Given the description of an element on the screen output the (x, y) to click on. 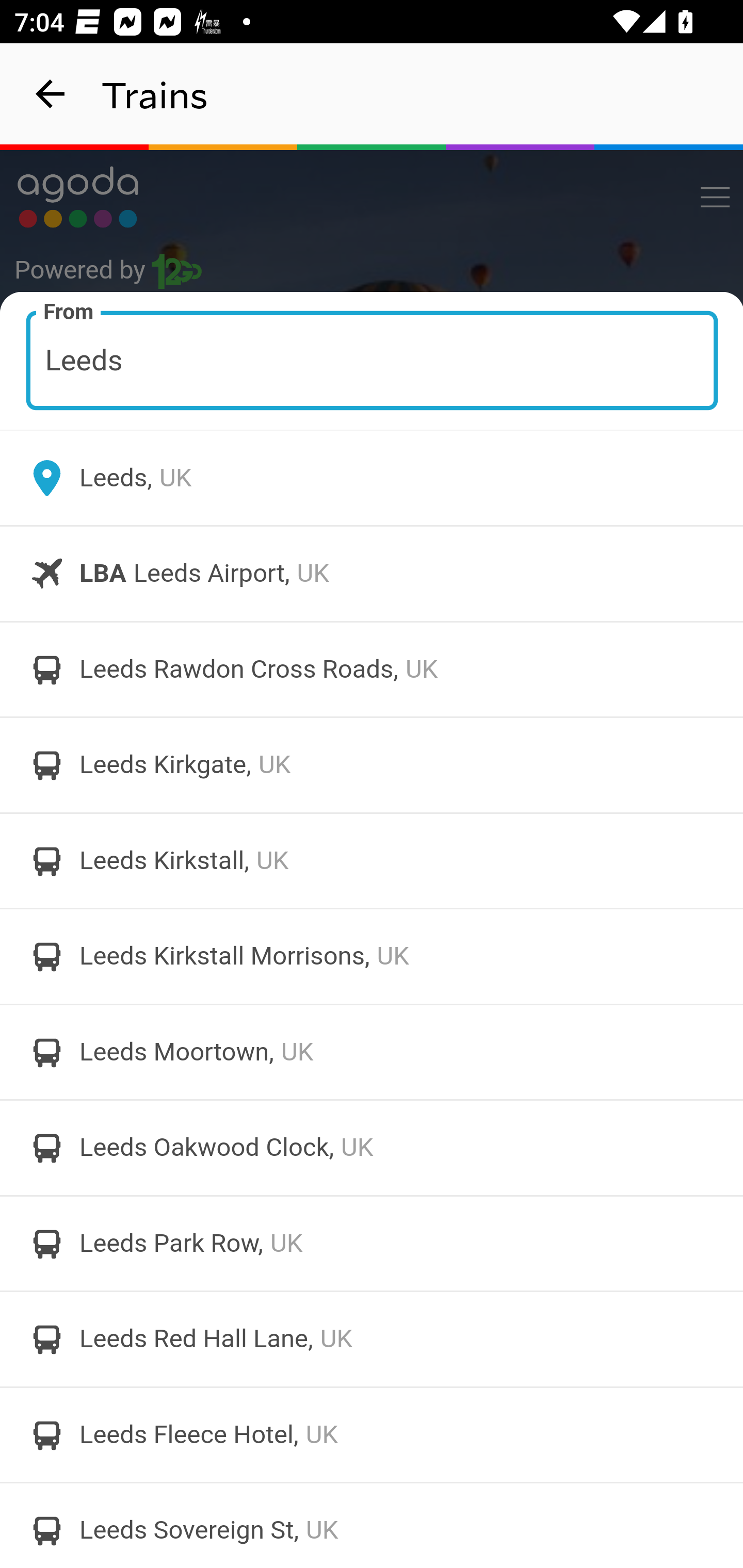
navigation_button (50, 93)
Leeds (372, 359)
Leeds,UK (371, 477)
LBA Leeds Airport , UK (371, 573)
Leeds Rawdon Cross Roads,UK (371, 669)
Leeds Kirkgate,UK (371, 764)
Leeds Kirkstall,UK (371, 860)
Leeds Kirkstall Morrisons,UK (371, 956)
Leeds Moortown,UK (371, 1051)
Leeds Oakwood Clock,UK (371, 1147)
Leeds Park Row,UK (371, 1243)
Leeds Red Hall Lane,UK (371, 1339)
Leeds Fleece Hotel,UK (371, 1434)
Leeds Sovereign St,UK (371, 1524)
